Given the description of an element on the screen output the (x, y) to click on. 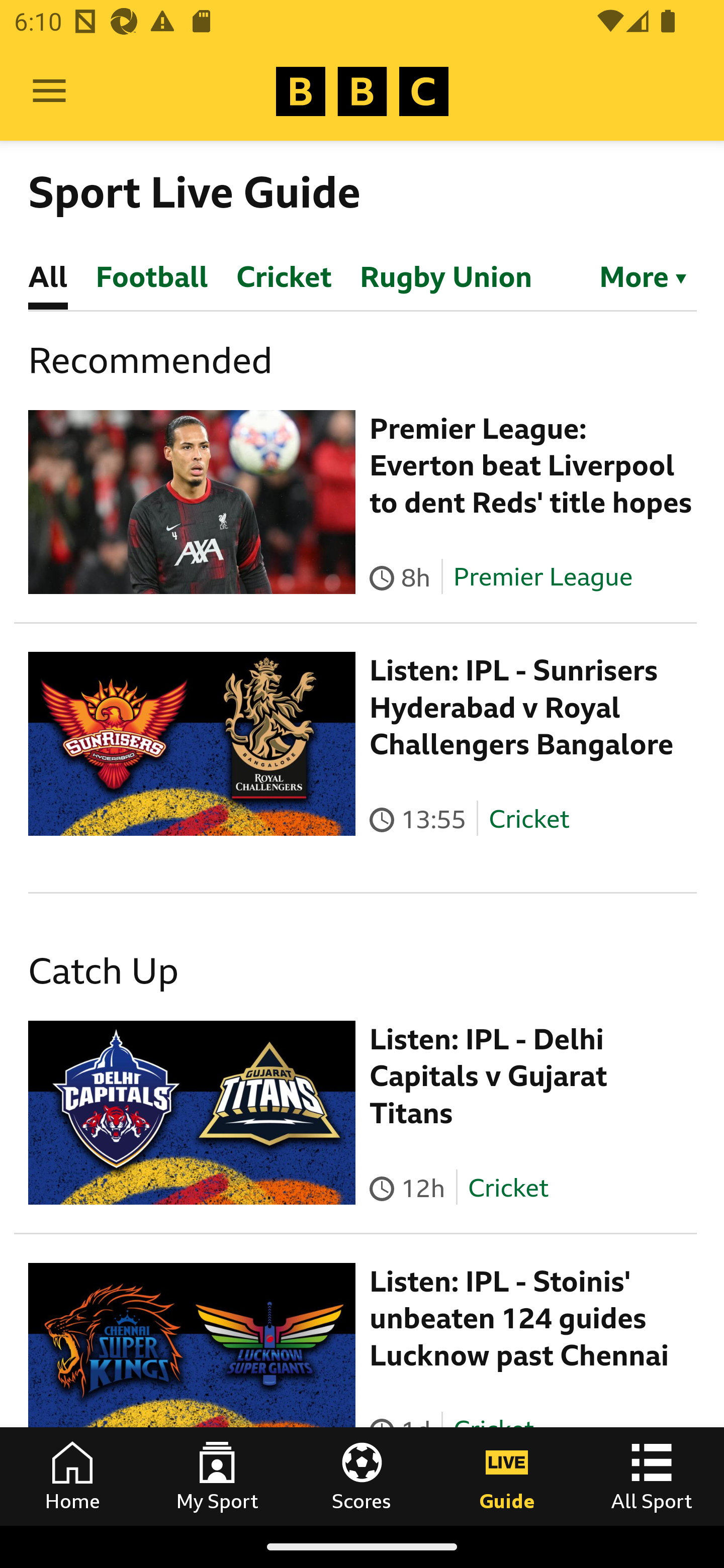
Open Menu (49, 91)
Premier League (542, 576)
Cricket (528, 818)
Listen: IPL - Delhi Capitals v Gujarat Titans (488, 1076)
Cricket (507, 1186)
Home (72, 1475)
My Sport (216, 1475)
Scores (361, 1475)
All Sport (651, 1475)
